Given the description of an element on the screen output the (x, y) to click on. 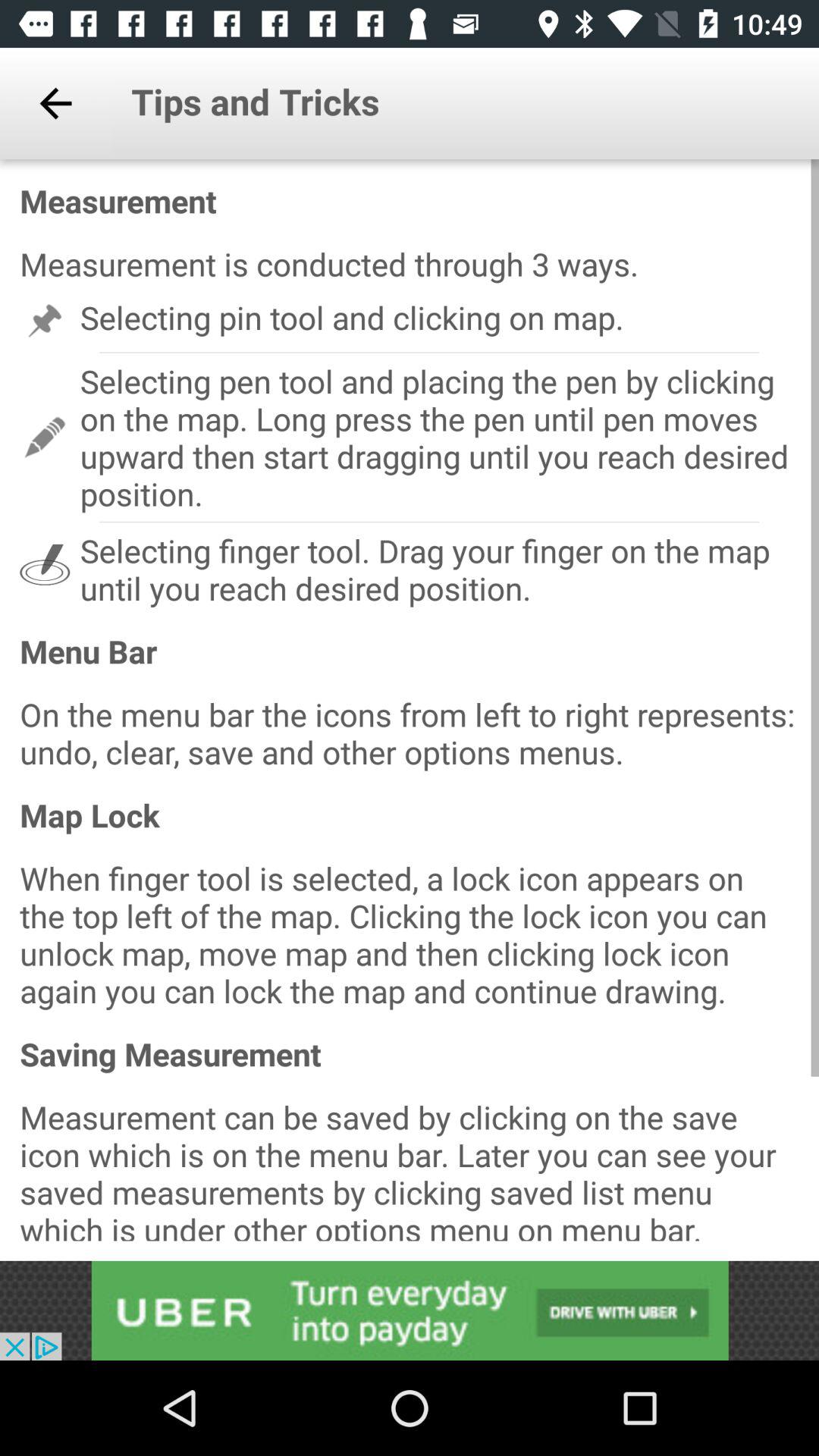
know about the advertisement (409, 1310)
